Given the description of an element on the screen output the (x, y) to click on. 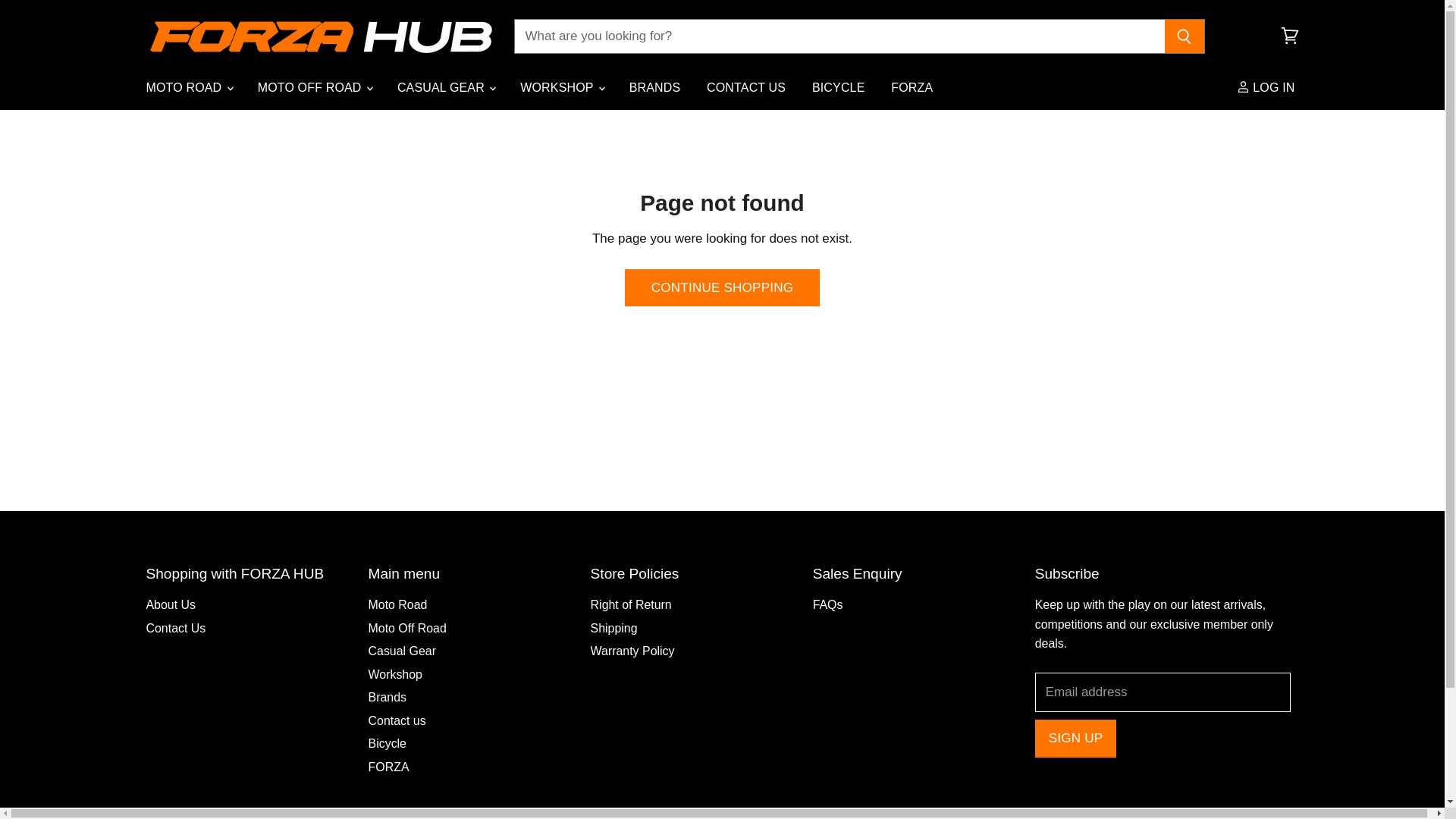
View cart (1289, 36)
ACCOUNT ICON (1242, 86)
MOTO ROAD (189, 87)
